Given the description of an element on the screen output the (x, y) to click on. 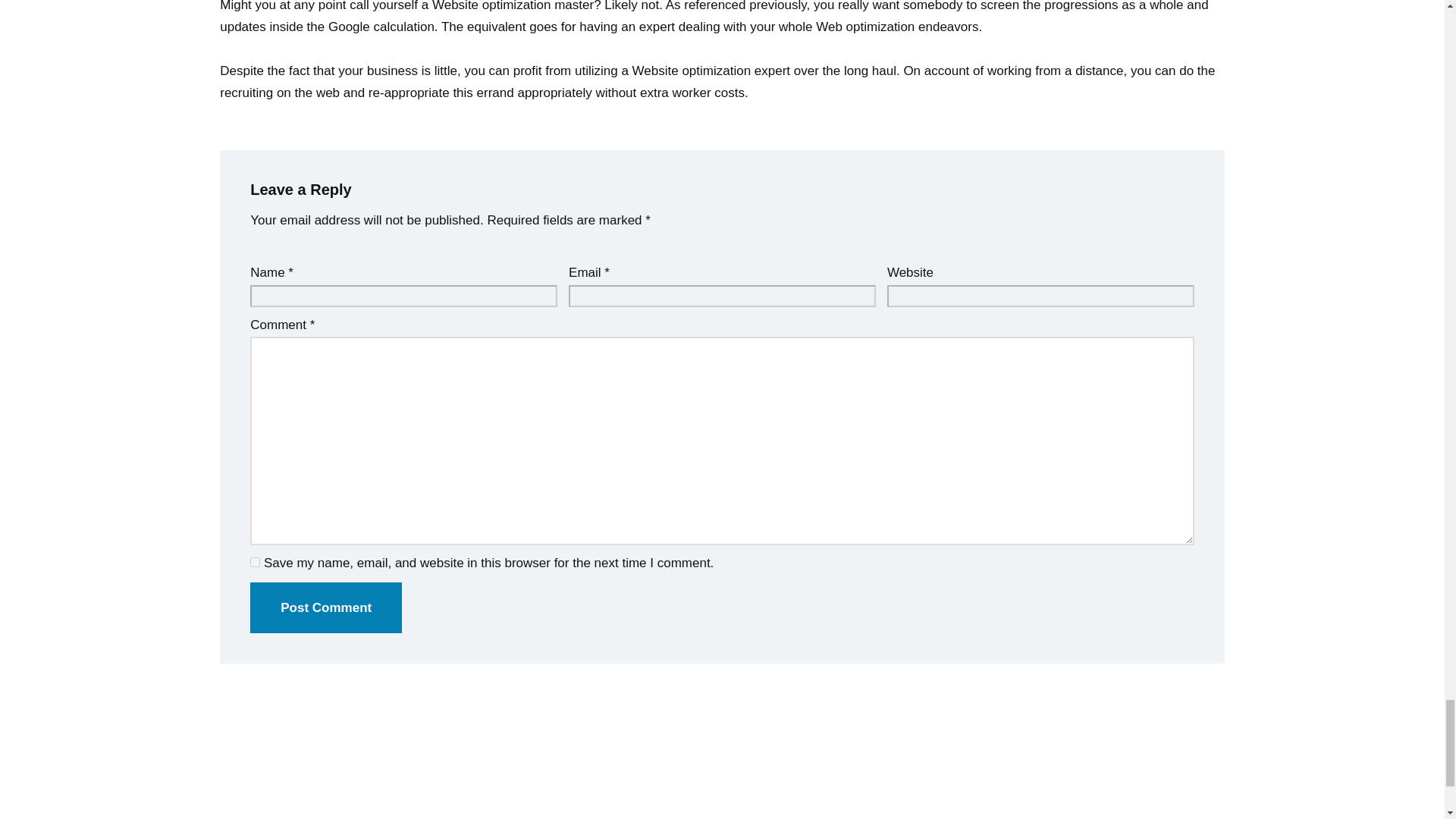
yes (255, 562)
Post Comment (325, 607)
Post Comment (325, 607)
